Given the description of an element on the screen output the (x, y) to click on. 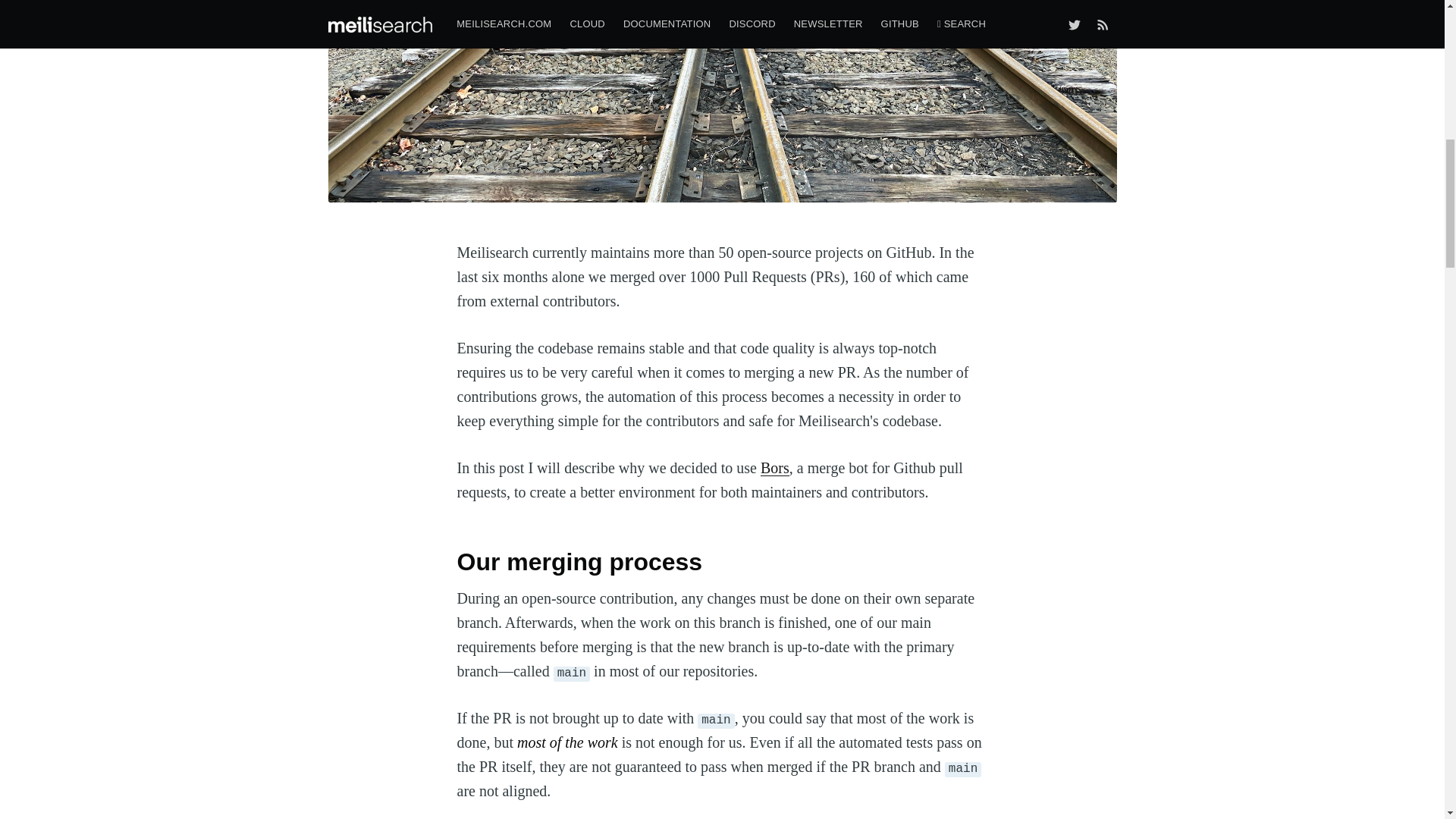
Bors (774, 467)
